Given the description of an element on the screen output the (x, y) to click on. 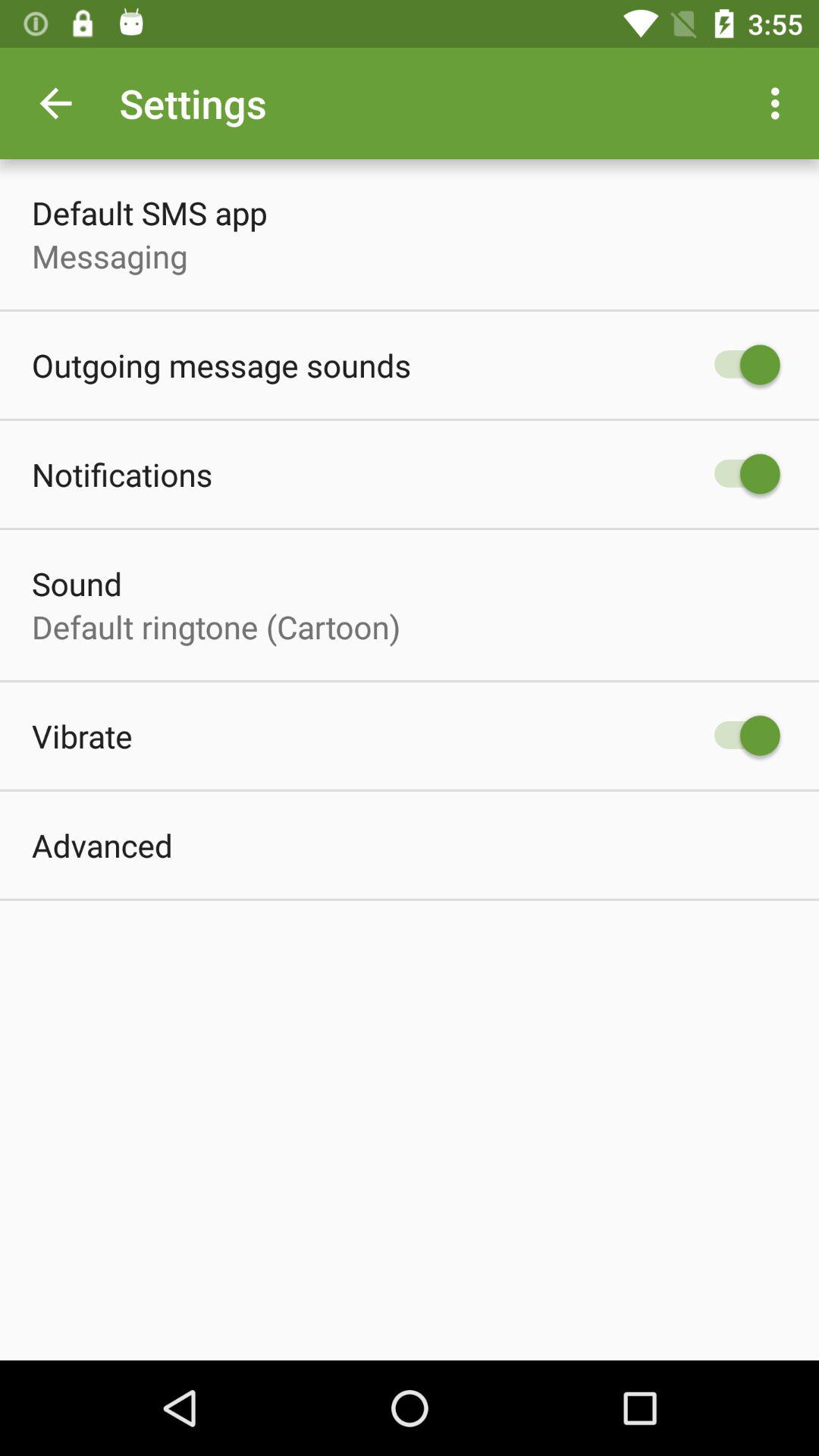
launch the item below outgoing message sounds item (121, 473)
